Given the description of an element on the screen output the (x, y) to click on. 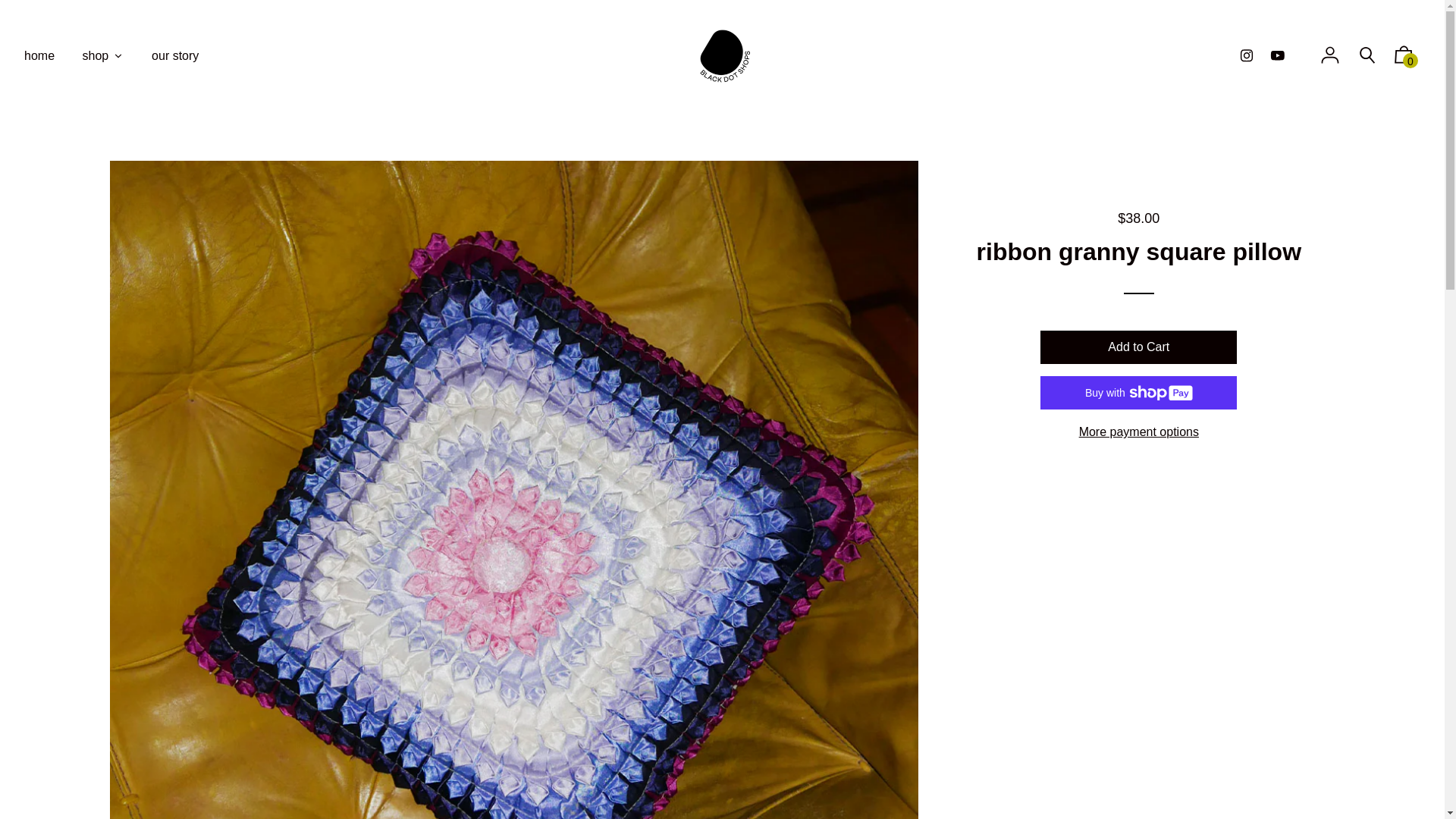
home (38, 55)
black dot shops on Instagram (1247, 55)
our story (175, 55)
black dot shops on YouTube (1277, 55)
shop (102, 55)
0 (1404, 57)
